Given the description of an element on the screen output the (x, y) to click on. 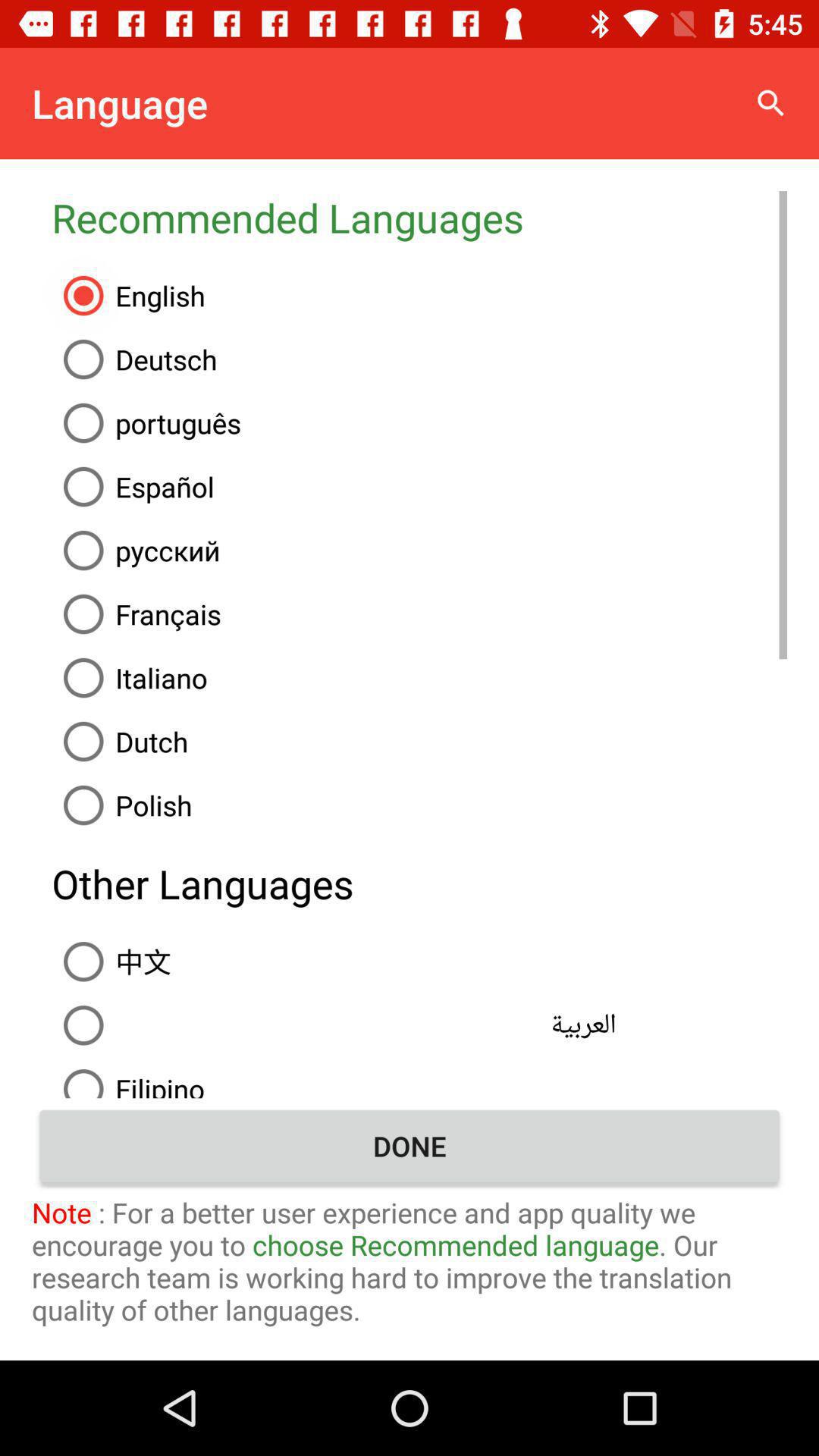
choose item next to the language (771, 103)
